Given the description of an element on the screen output the (x, y) to click on. 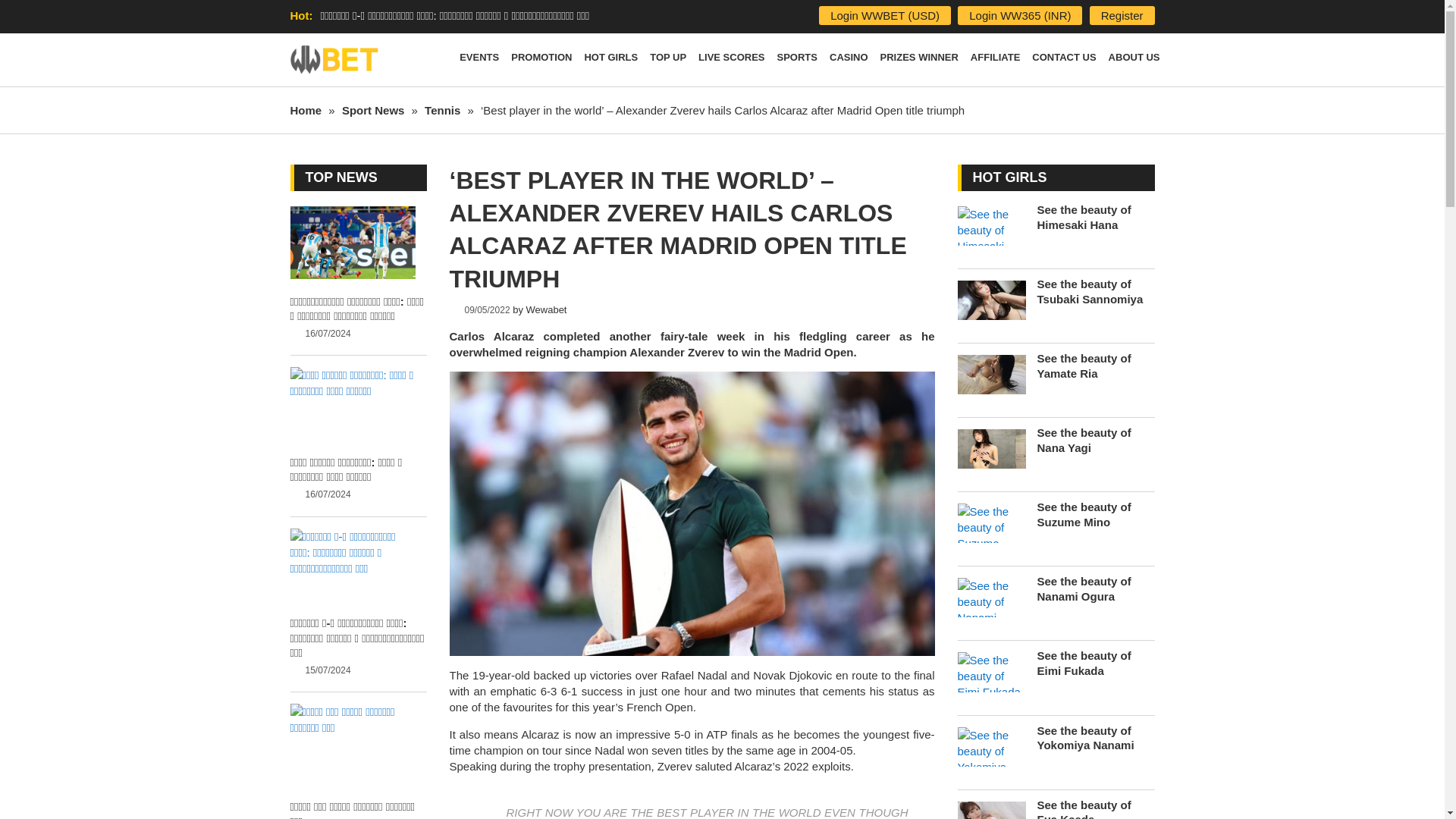
PROMOTION (541, 59)
LIVE SCORES (731, 59)
HOT GIRLS (610, 59)
Register (1121, 15)
